Given the description of an element on the screen output the (x, y) to click on. 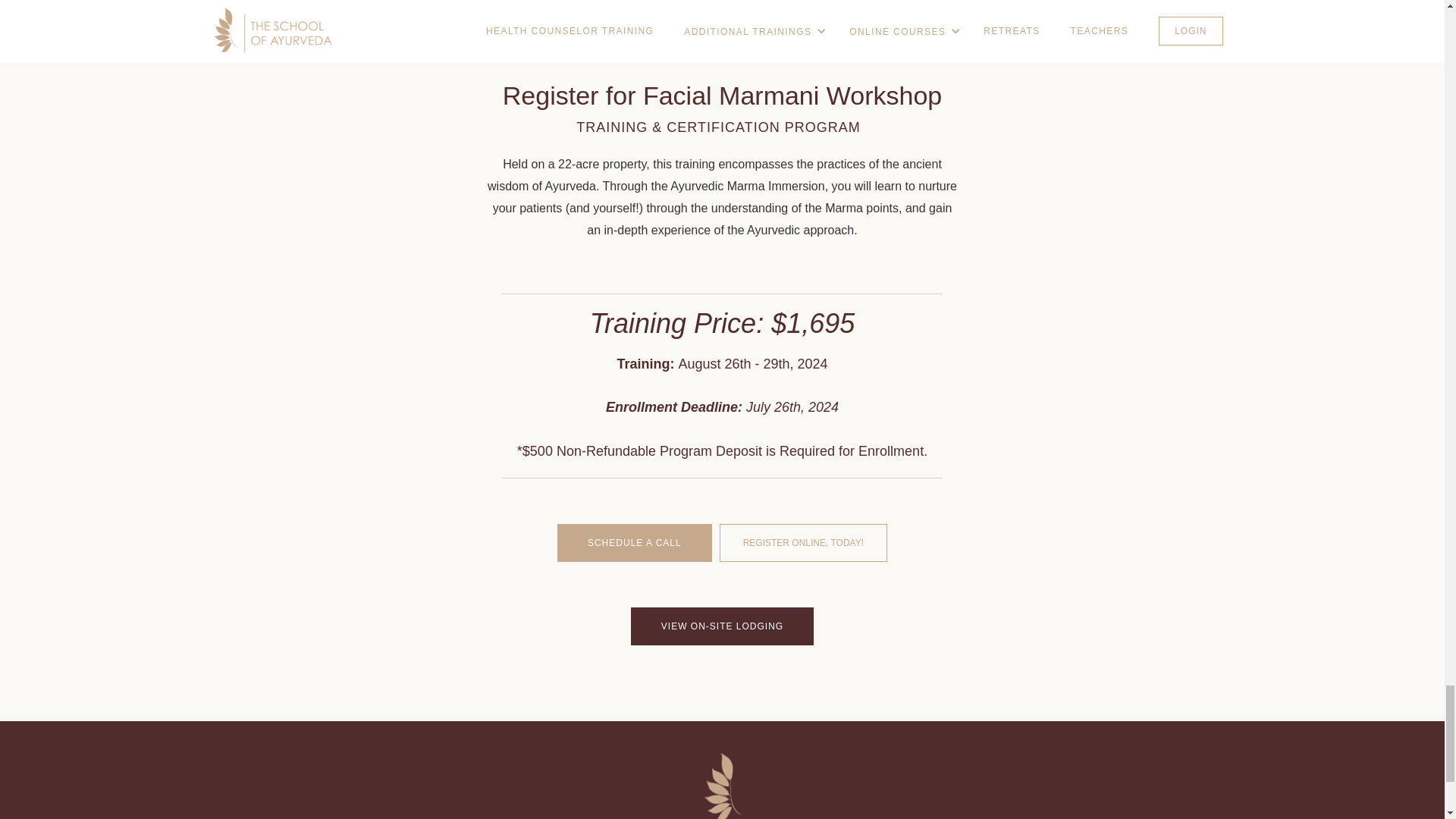
SCHEDULE A CALL (634, 542)
REGISTER ONLINE, TODAY! (802, 542)
VIEW ON-SITE LODGING (721, 626)
